Given the description of an element on the screen output the (x, y) to click on. 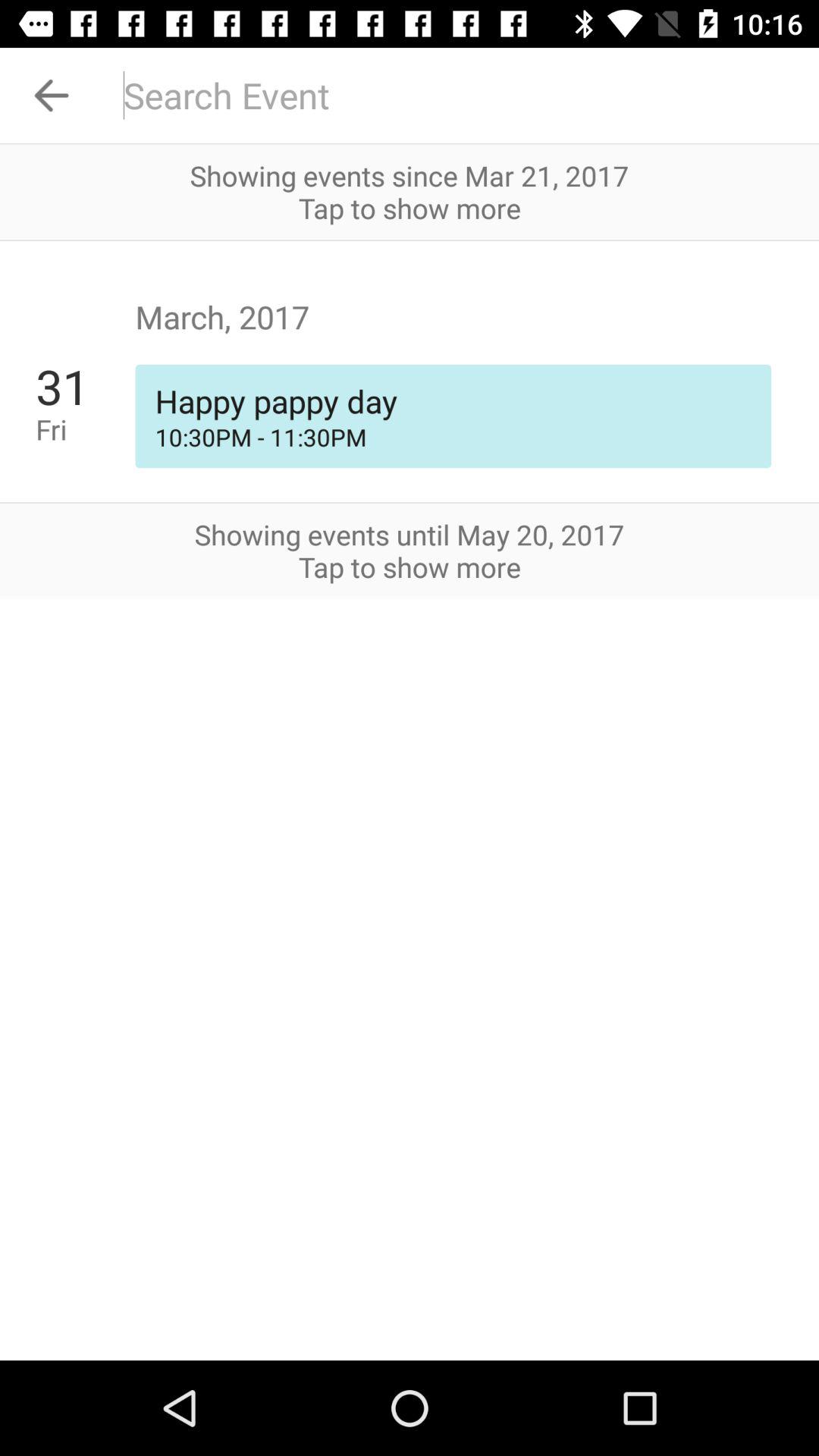
press item next to the happy pappy day item (85, 429)
